Given the description of an element on the screen output the (x, y) to click on. 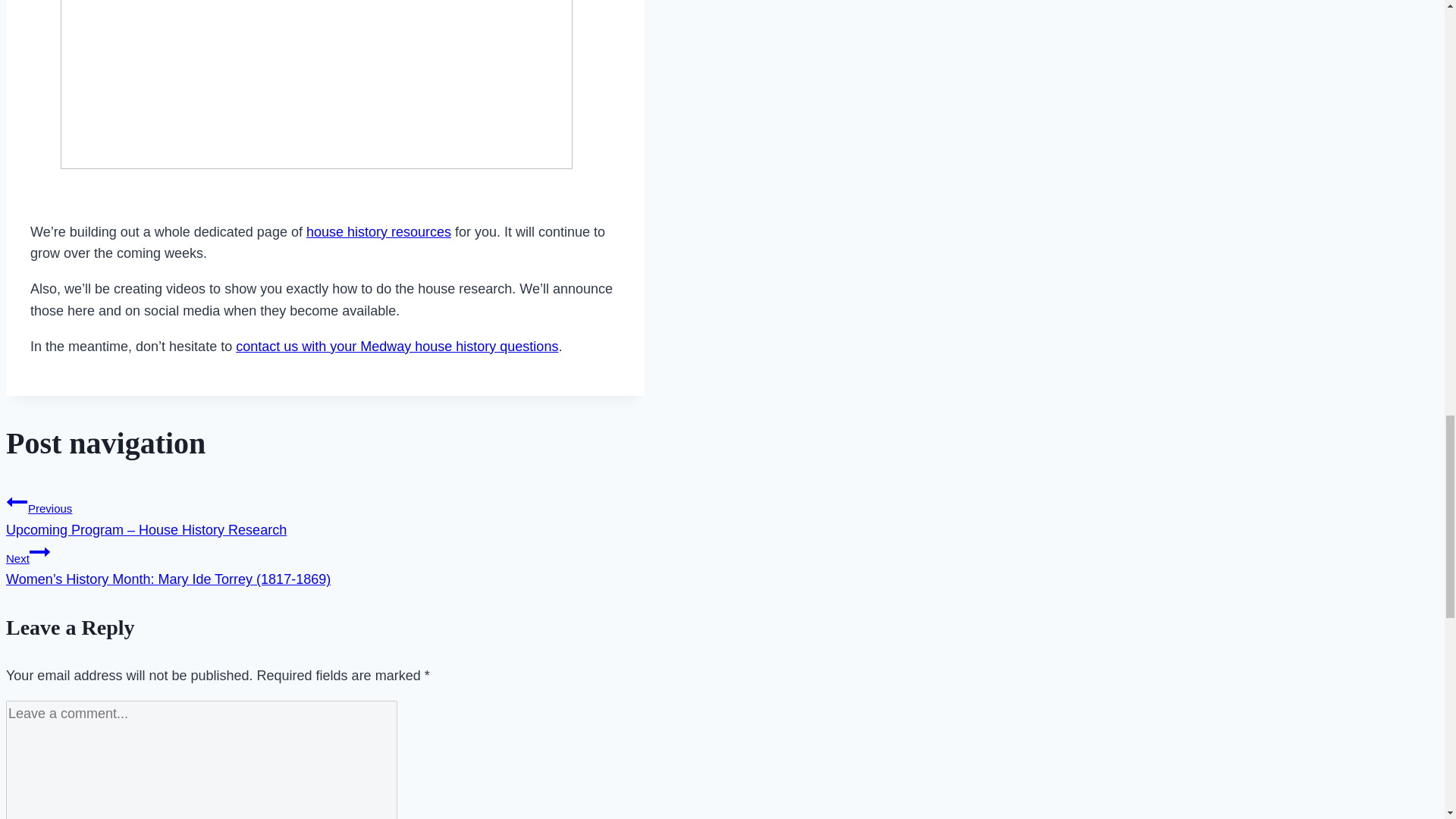
Continue (39, 551)
contact us with your Medway house history questions (396, 346)
Previous (16, 501)
house history resources (378, 231)
